Given the description of an element on the screen output the (x, y) to click on. 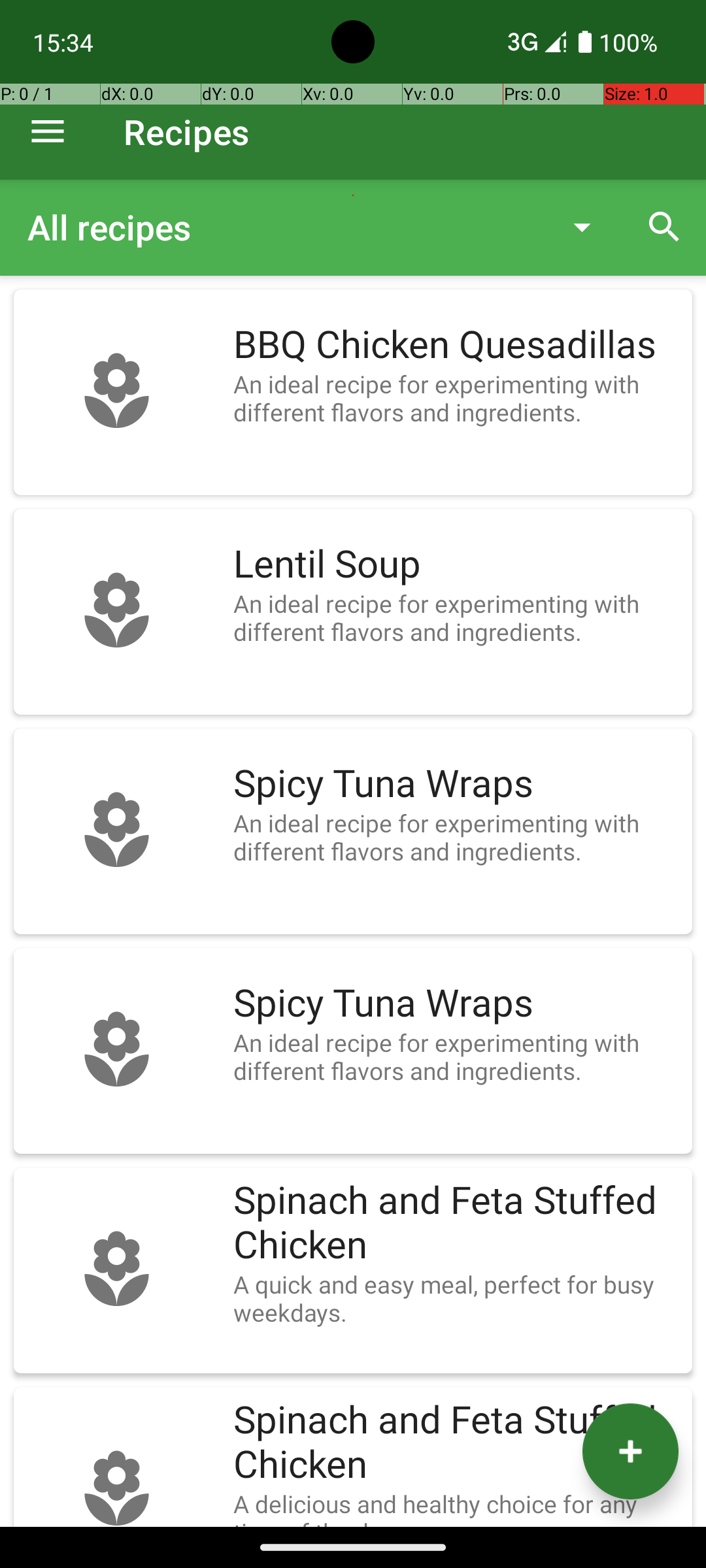
Lentil Soup Element type: android.widget.TextView (455, 564)
Spicy Tuna Wraps Element type: android.widget.TextView (455, 783)
Spinach and Feta Stuffed Chicken Element type: android.widget.TextView (455, 1222)
